Given the description of an element on the screen output the (x, y) to click on. 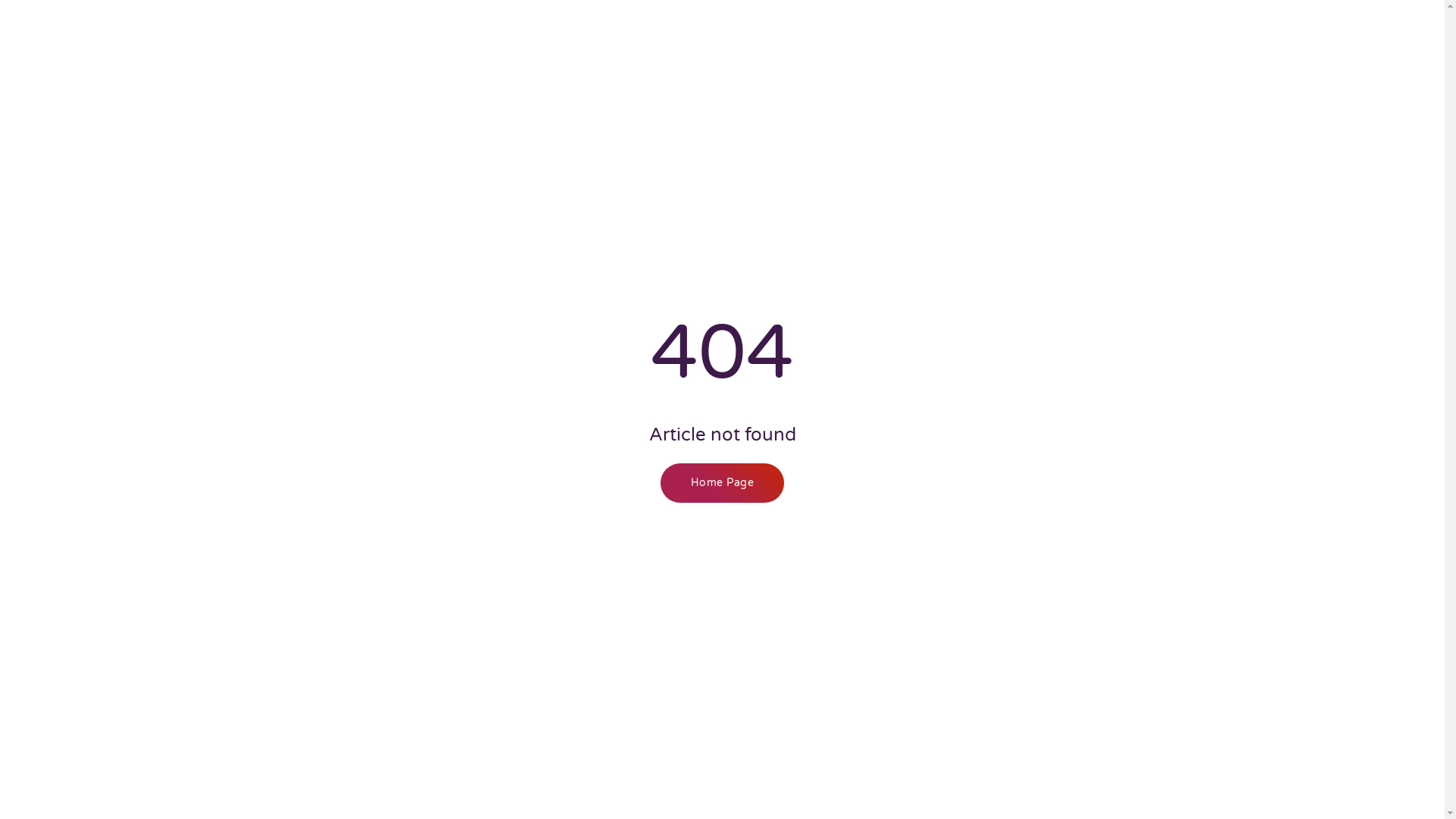
Home Page Element type: text (722, 482)
